Given the description of an element on the screen output the (x, y) to click on. 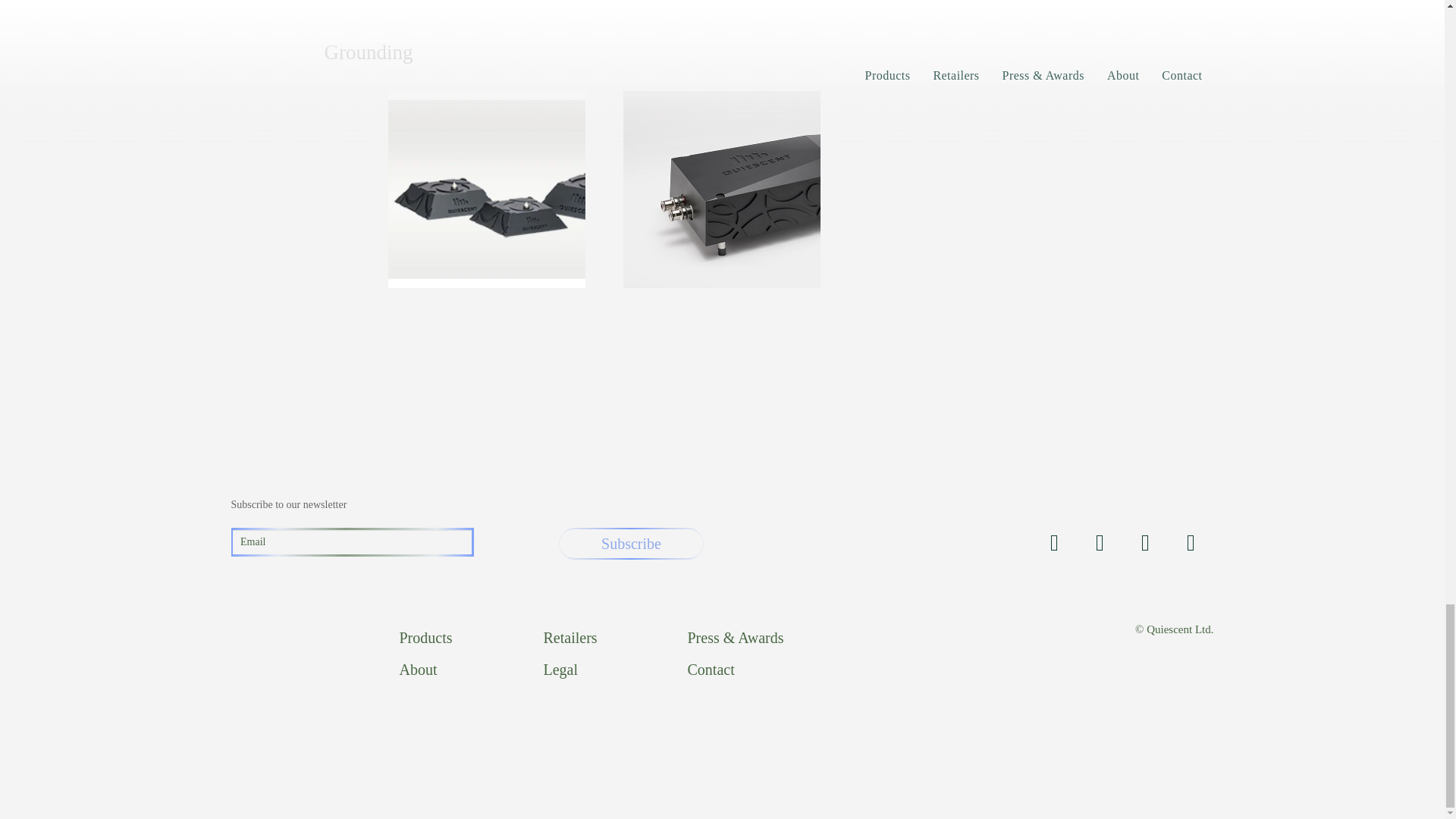
Retailers (569, 637)
Subscribe (631, 543)
Products (424, 637)
